Given the description of an element on the screen output the (x, y) to click on. 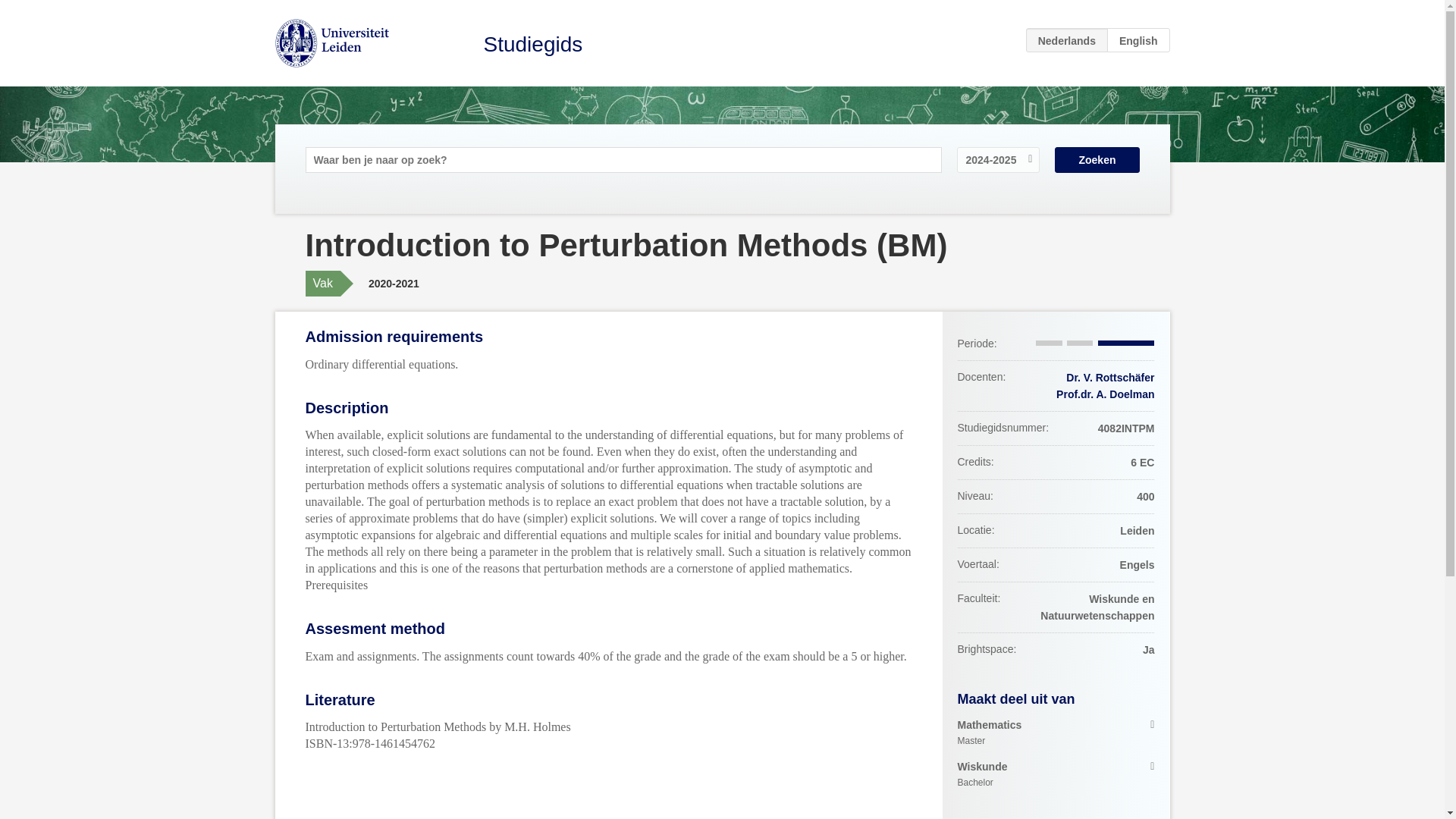
EN (1055, 733)
Prof.dr. A. Doelman (1138, 39)
Studiegids (1105, 394)
Zoeken (533, 44)
